Given the description of an element on the screen output the (x, y) to click on. 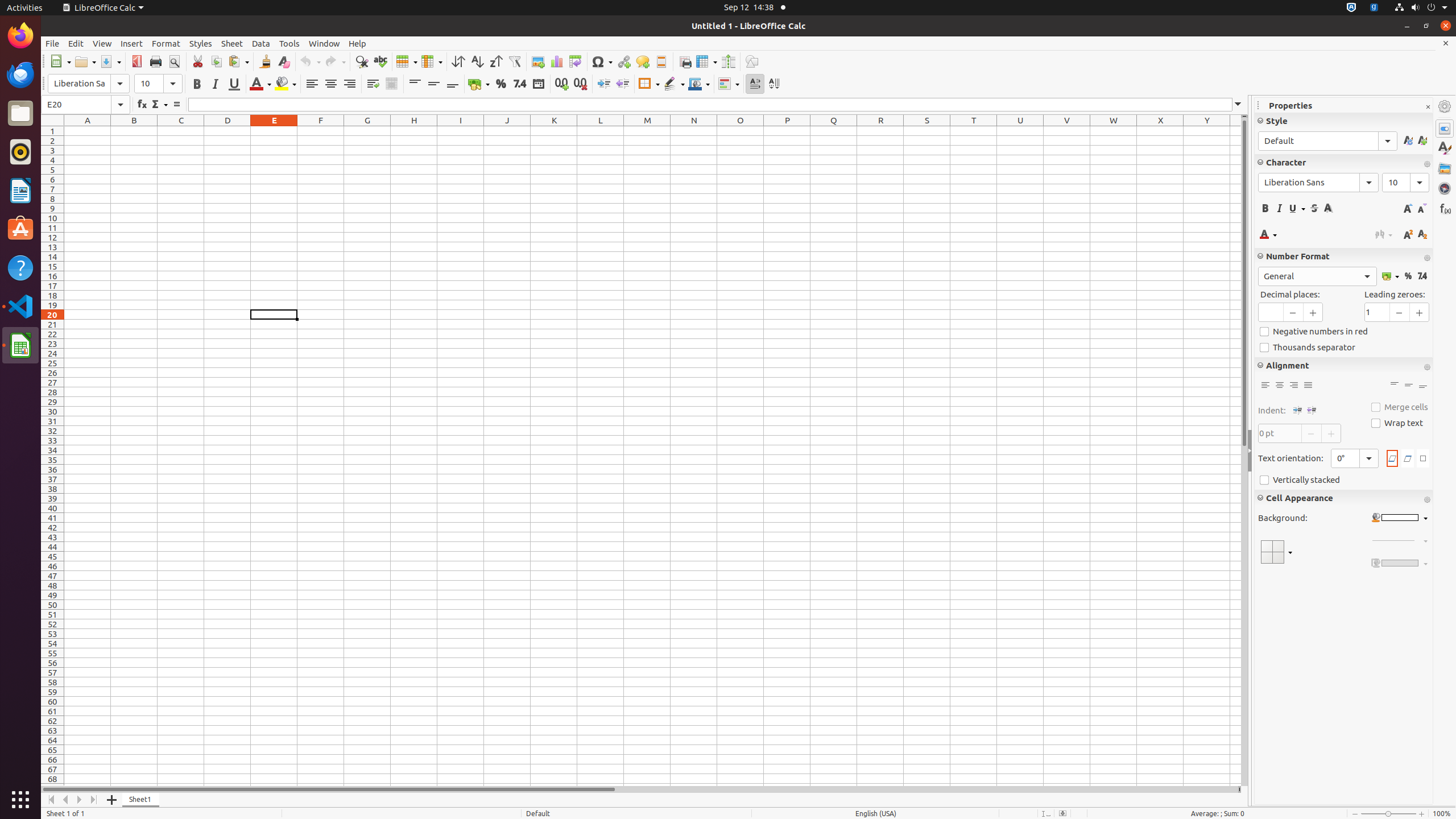
A1 Element type: table-cell (87, 130)
Bold Element type: toggle-button (196, 83)
Paste Element type: push-button (237, 61)
Ubuntu Software Element type: push-button (20, 229)
Shadow Element type: toggle-button (1328, 208)
